Given the description of an element on the screen output the (x, y) to click on. 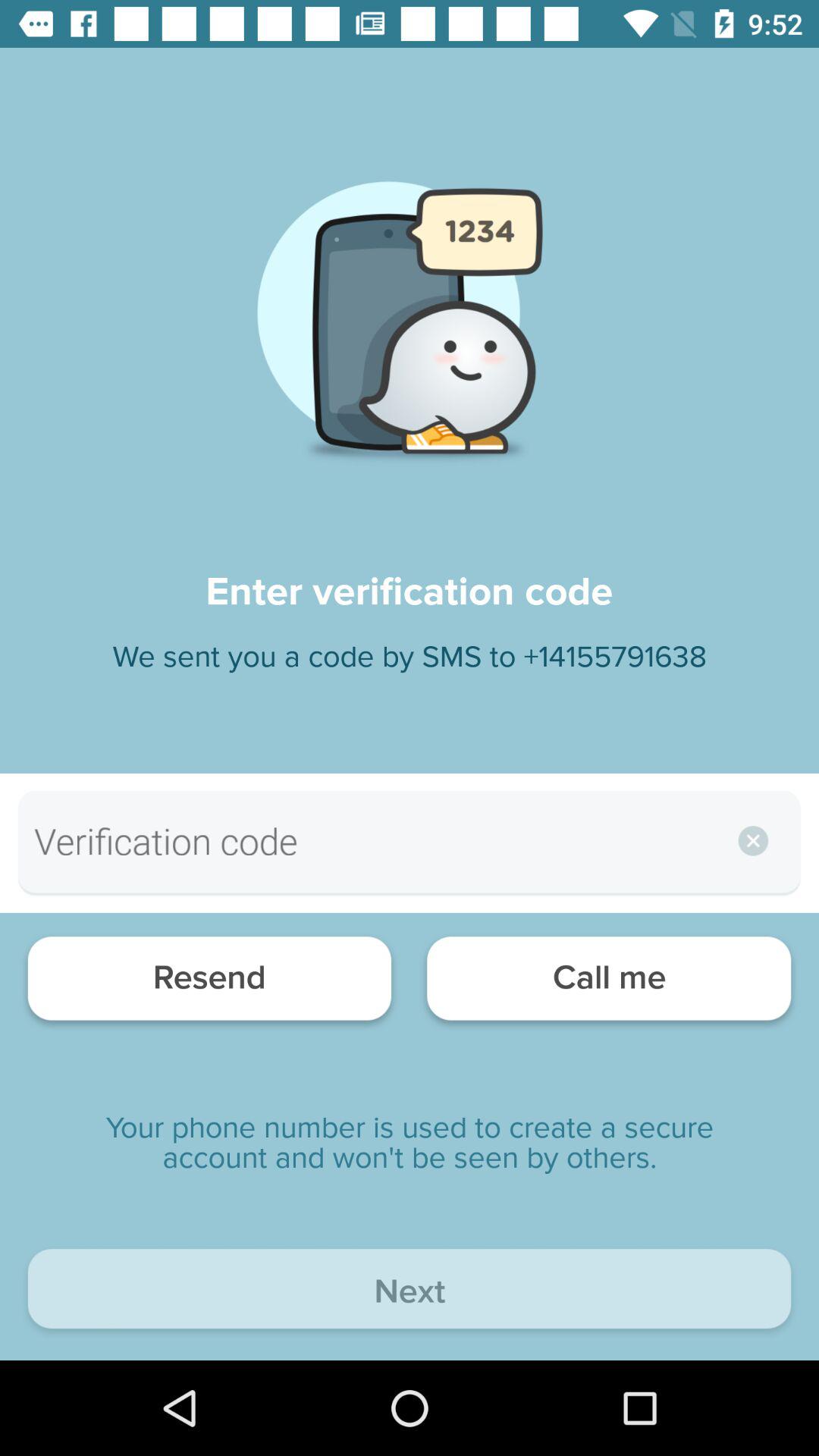
turn off the icon at the bottom right corner (609, 982)
